Given the description of an element on the screen output the (x, y) to click on. 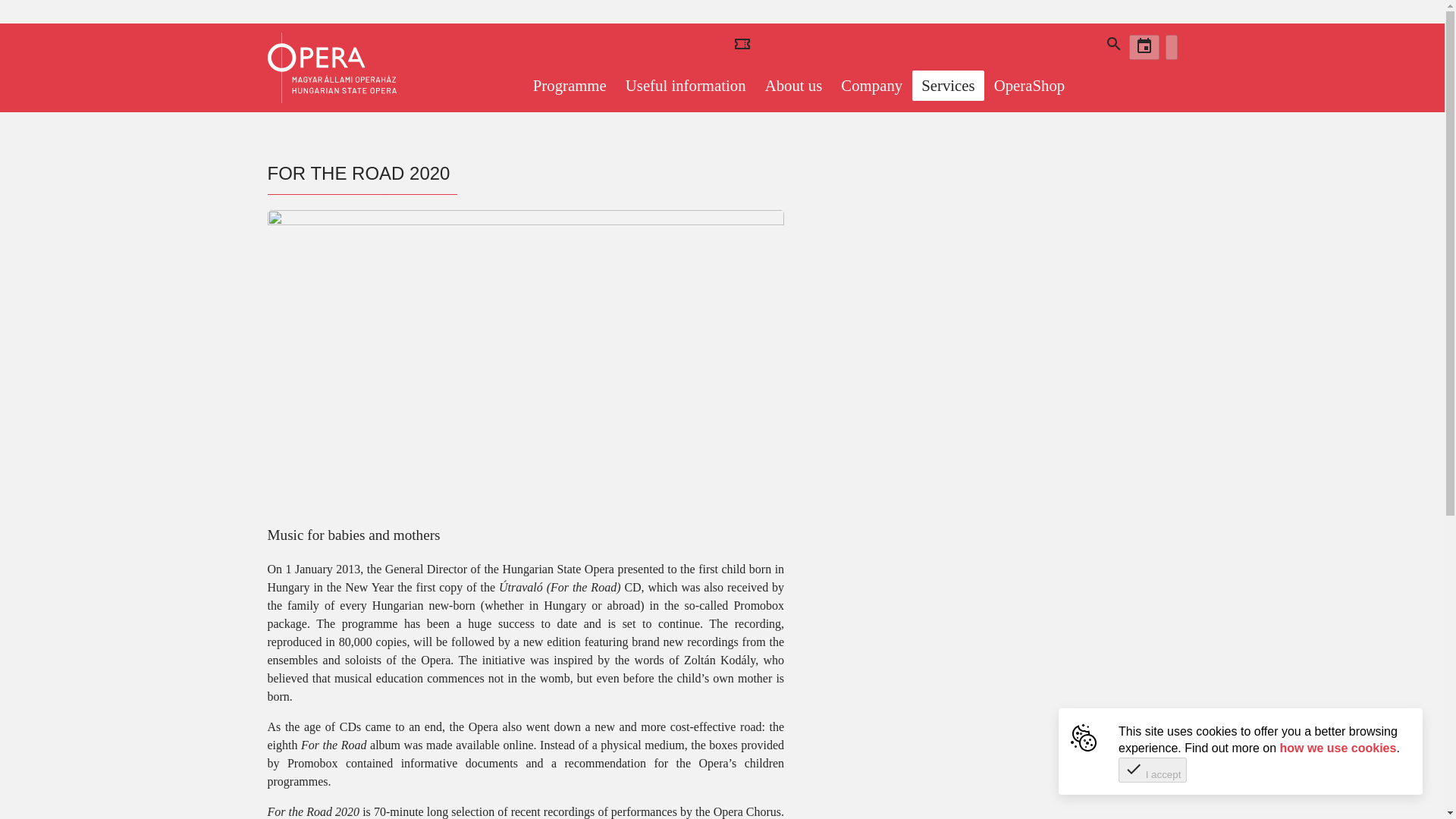
Back to the main page (331, 67)
Tickets (761, 47)
how we use cookies (1337, 748)
Programme (569, 85)
Useful information (685, 85)
I accept (1152, 769)
Company (871, 85)
About us (793, 85)
